Given the description of an element on the screen output the (x, y) to click on. 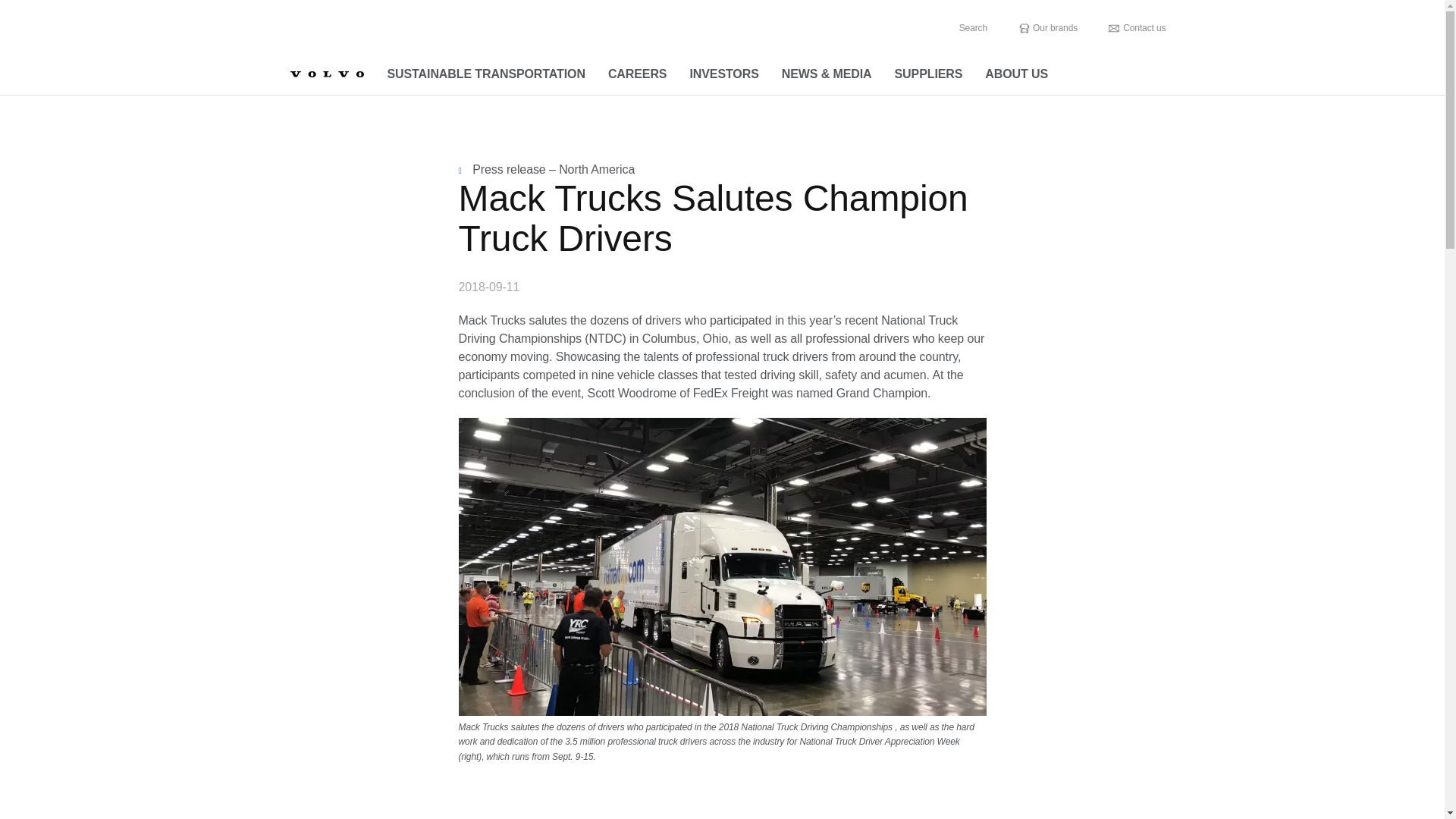
Investors (724, 74)
Careers (637, 74)
SUSTAINABLE TRANSPORTATION (485, 74)
INVESTORS (724, 74)
CAREERS (637, 74)
Our brands (1047, 28)
Contact us (1137, 28)
Sustainable Transportation (485, 74)
